Given the description of an element on the screen output the (x, y) to click on. 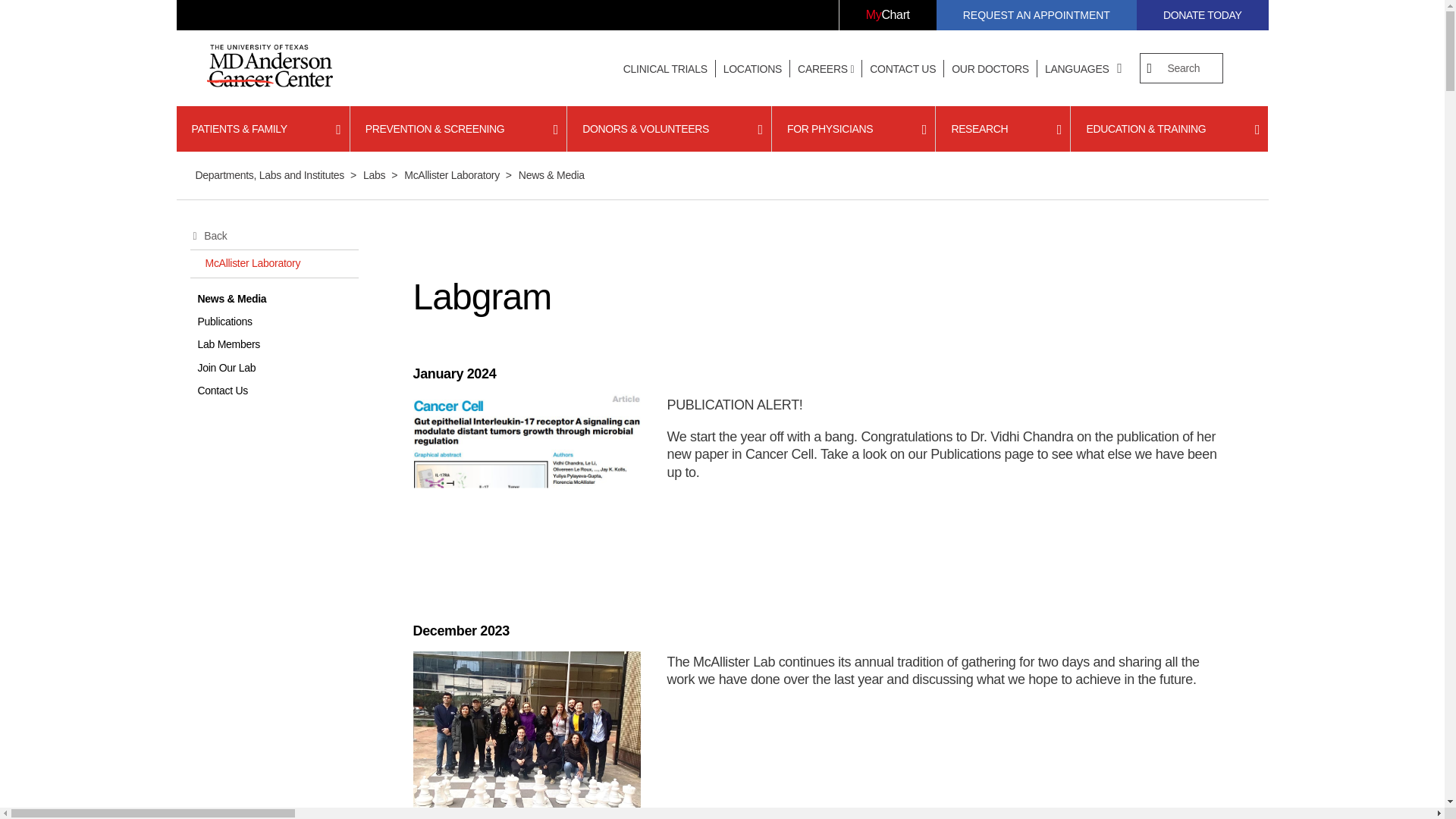
OUR DOCTORS (989, 69)
REQUEST AN APPOINTMENT (1036, 15)
CONTACT US (902, 69)
DONATE TODAY (1202, 15)
 Opens a new window (1202, 15)
CLINICAL TRIALS (664, 69)
CAREERS (825, 69)
 Opens a new window (888, 15)
MyChart (888, 15)
LOCATIONS (752, 69)
LANGUAGES (1076, 69)
